Given the description of an element on the screen output the (x, y) to click on. 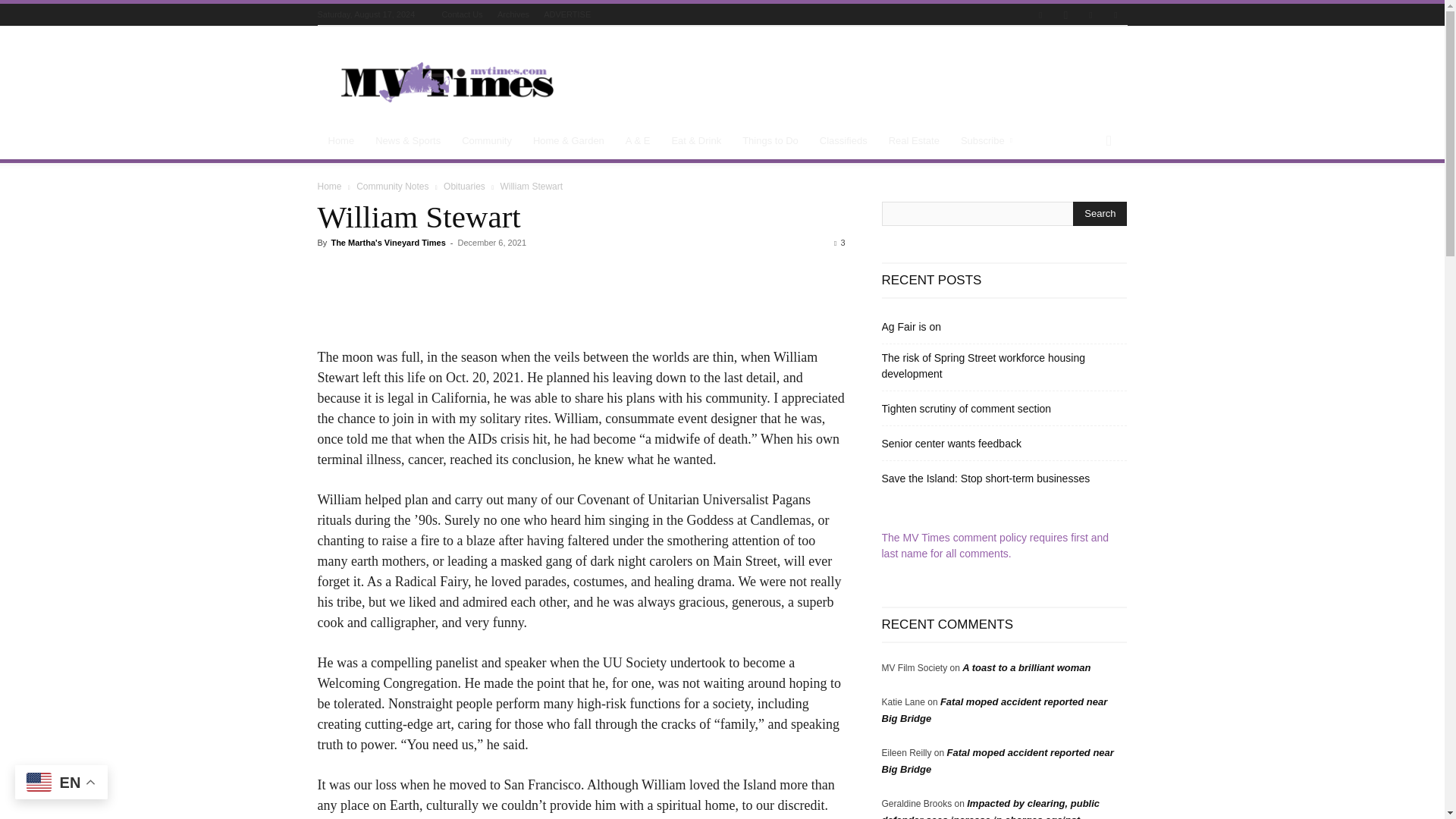
Real Estate (913, 140)
Youtube (1114, 14)
3rd party ad content (850, 81)
ADVERTISE (567, 13)
Twitter (1090, 14)
Contact Us (461, 13)
Instagram (1065, 14)
Home (341, 140)
Search (1099, 213)
View all posts in Obituaries (464, 185)
